Given the description of an element on the screen output the (x, y) to click on. 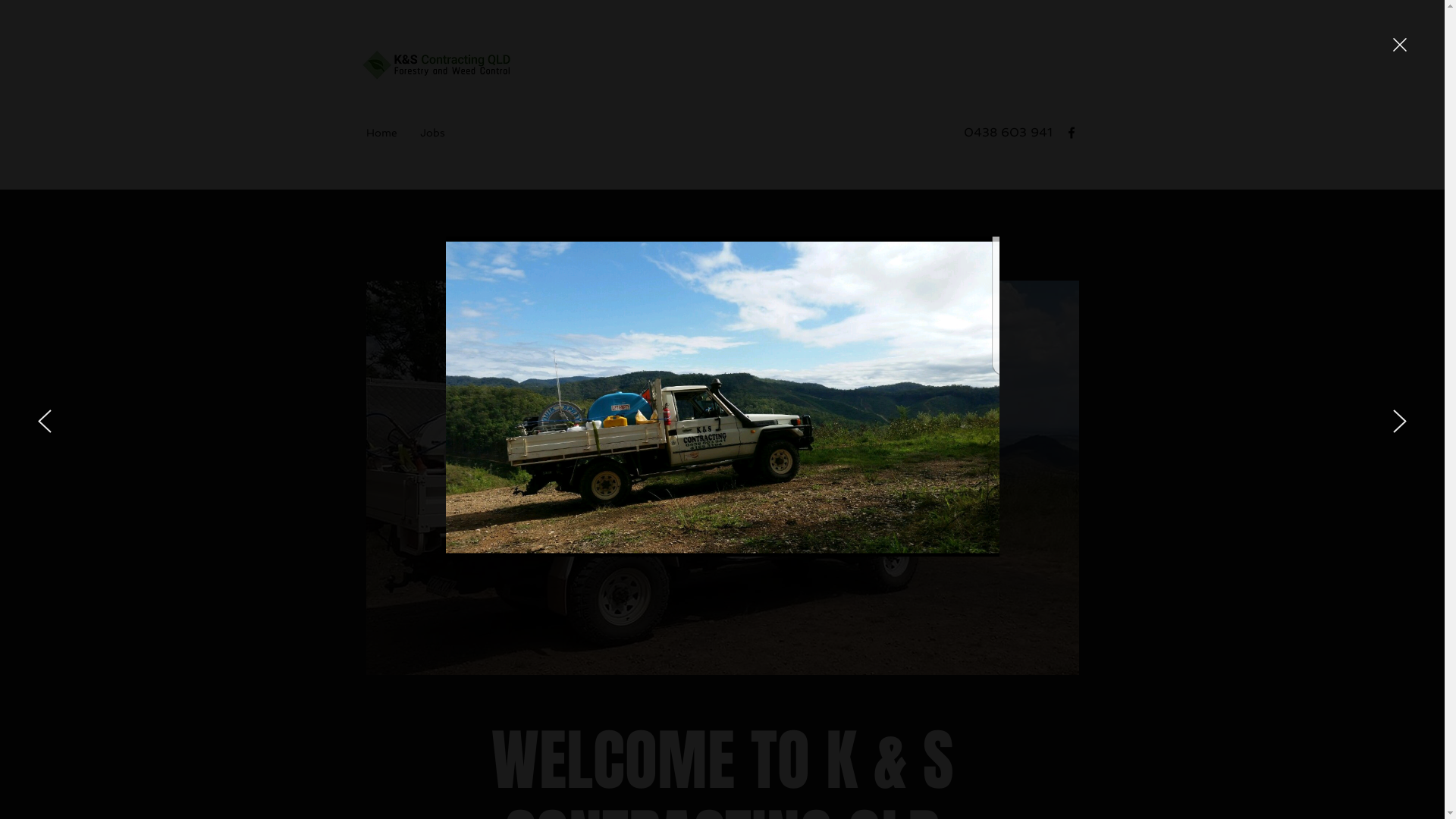
Home Element type: text (381, 132)
Jobs Element type: text (431, 132)
